Given the description of an element on the screen output the (x, y) to click on. 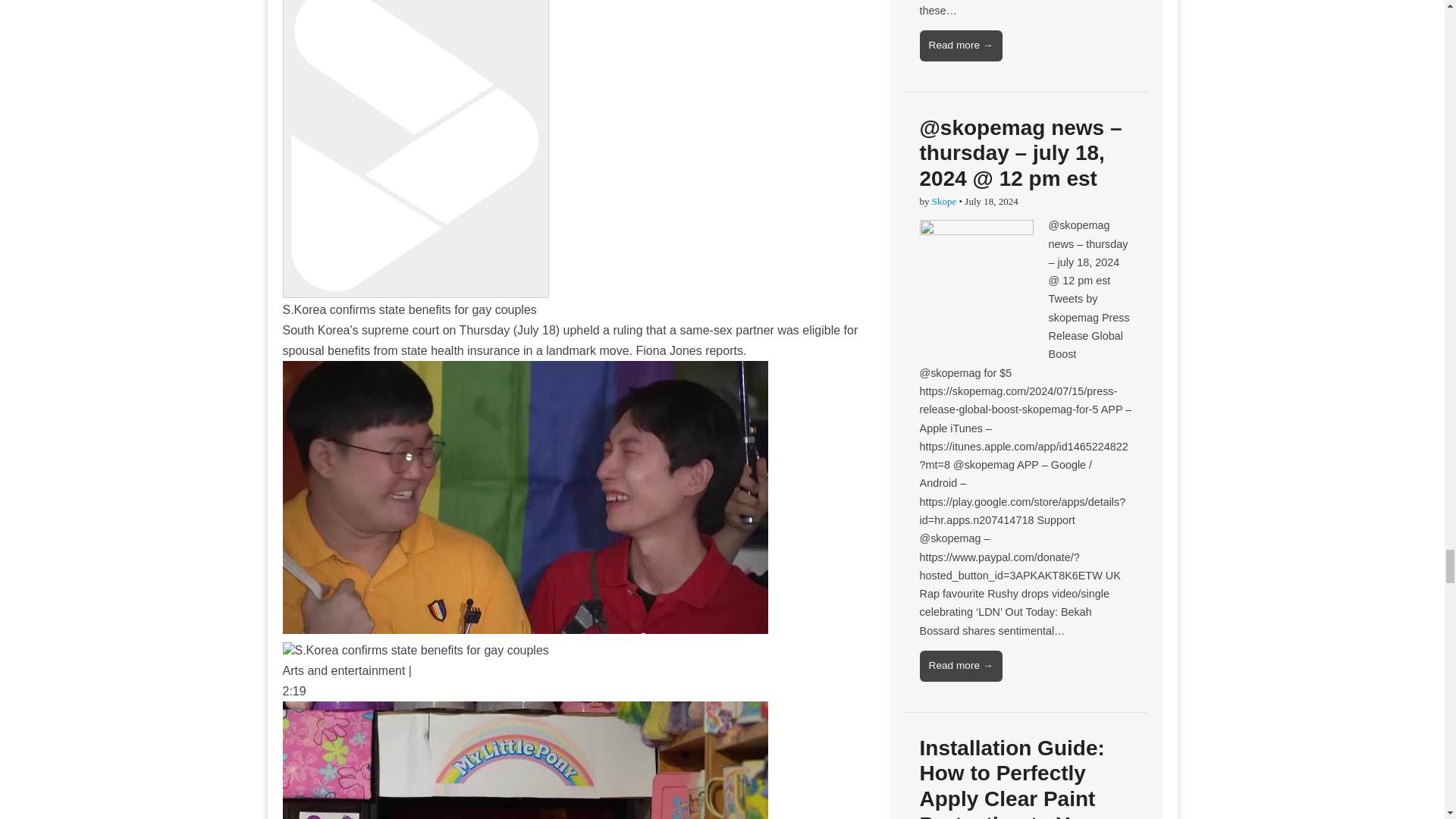
Posts by Skope (943, 201)
